Given the description of an element on the screen output the (x, y) to click on. 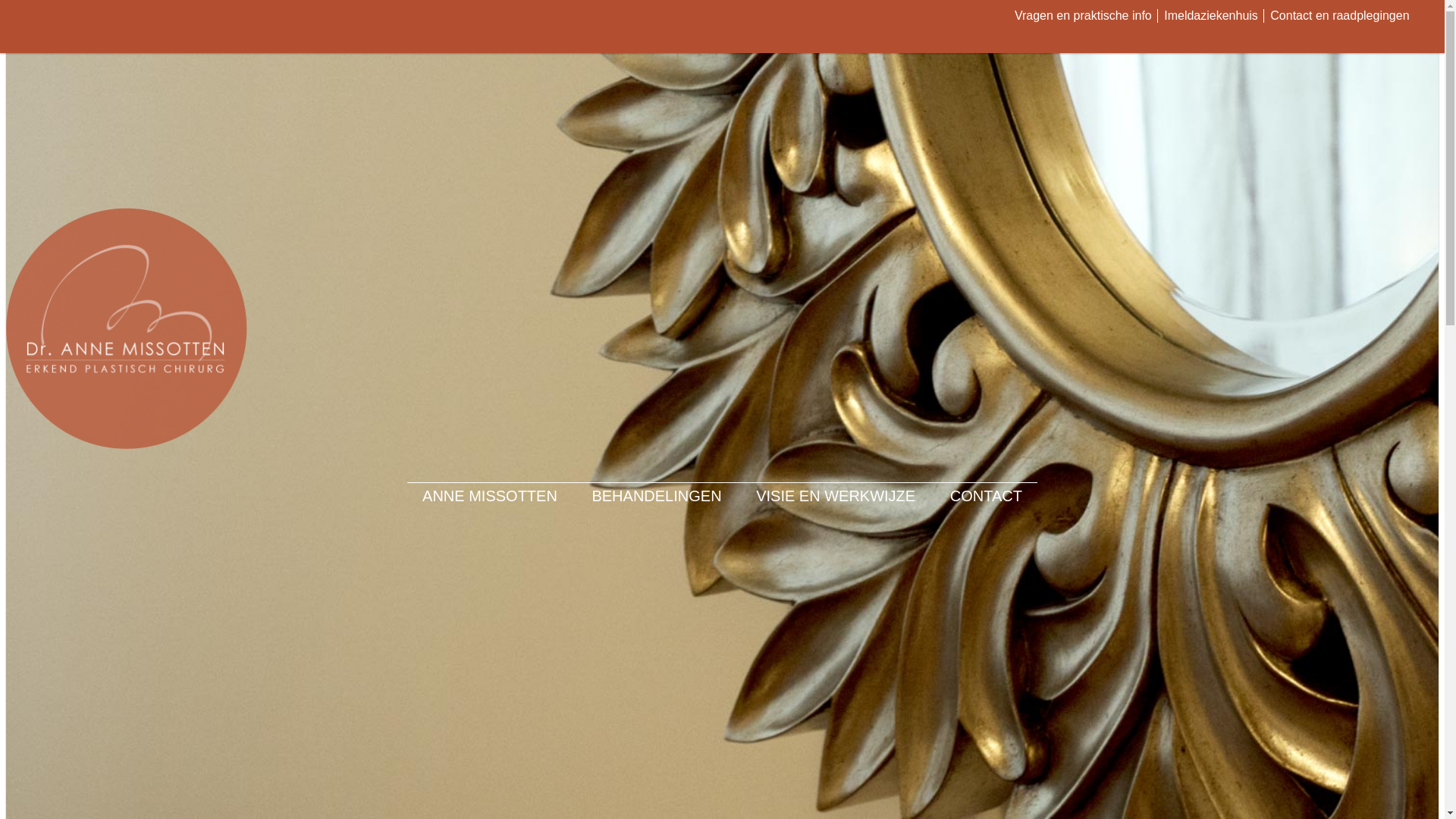
Contact en raadplegingen Element type: text (1339, 15)
BEHANDELINGEN Element type: text (656, 495)
VISIE EN WERKWIJZE Element type: text (835, 495)
Imeldaziekenhuis Element type: text (1211, 15)
CONTACT Element type: text (986, 495)
Vragen en praktische info Element type: text (1082, 15)
ANNE MISSOTTEN Element type: text (489, 495)
